Given the description of an element on the screen output the (x, y) to click on. 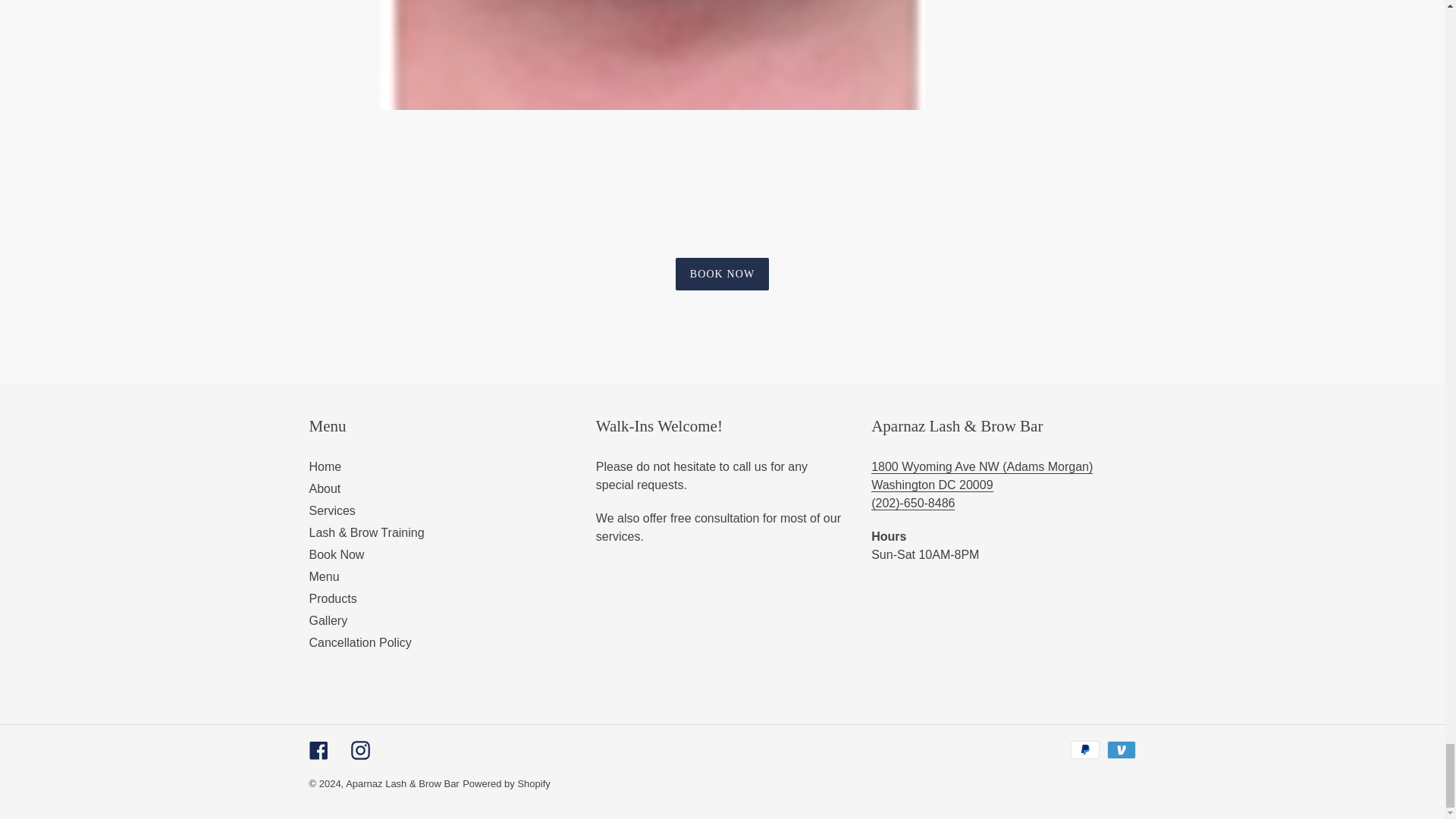
tel: 202-650-8486 (912, 503)
